Given the description of an element on the screen output the (x, y) to click on. 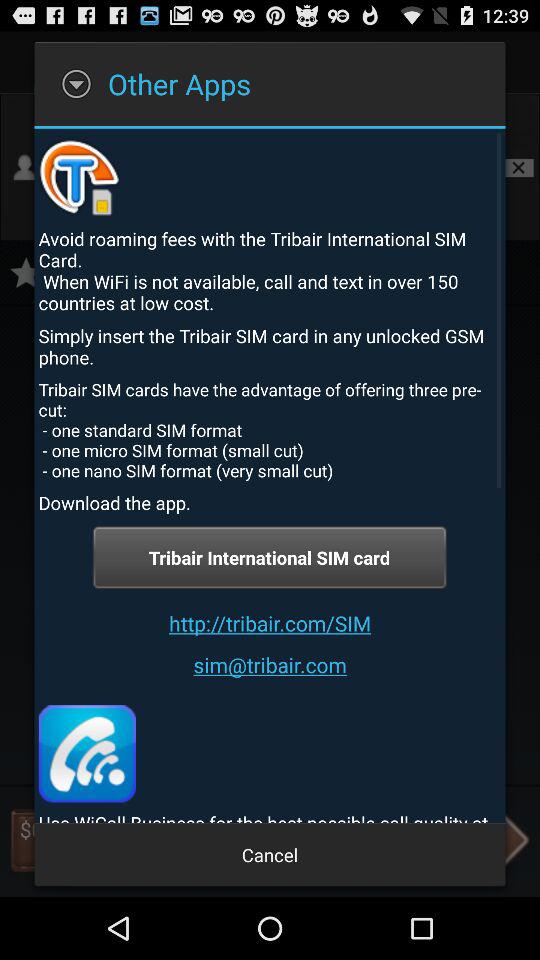
turn on the icon above the sim@tribair.com item (269, 622)
